Given the description of an element on the screen output the (x, y) to click on. 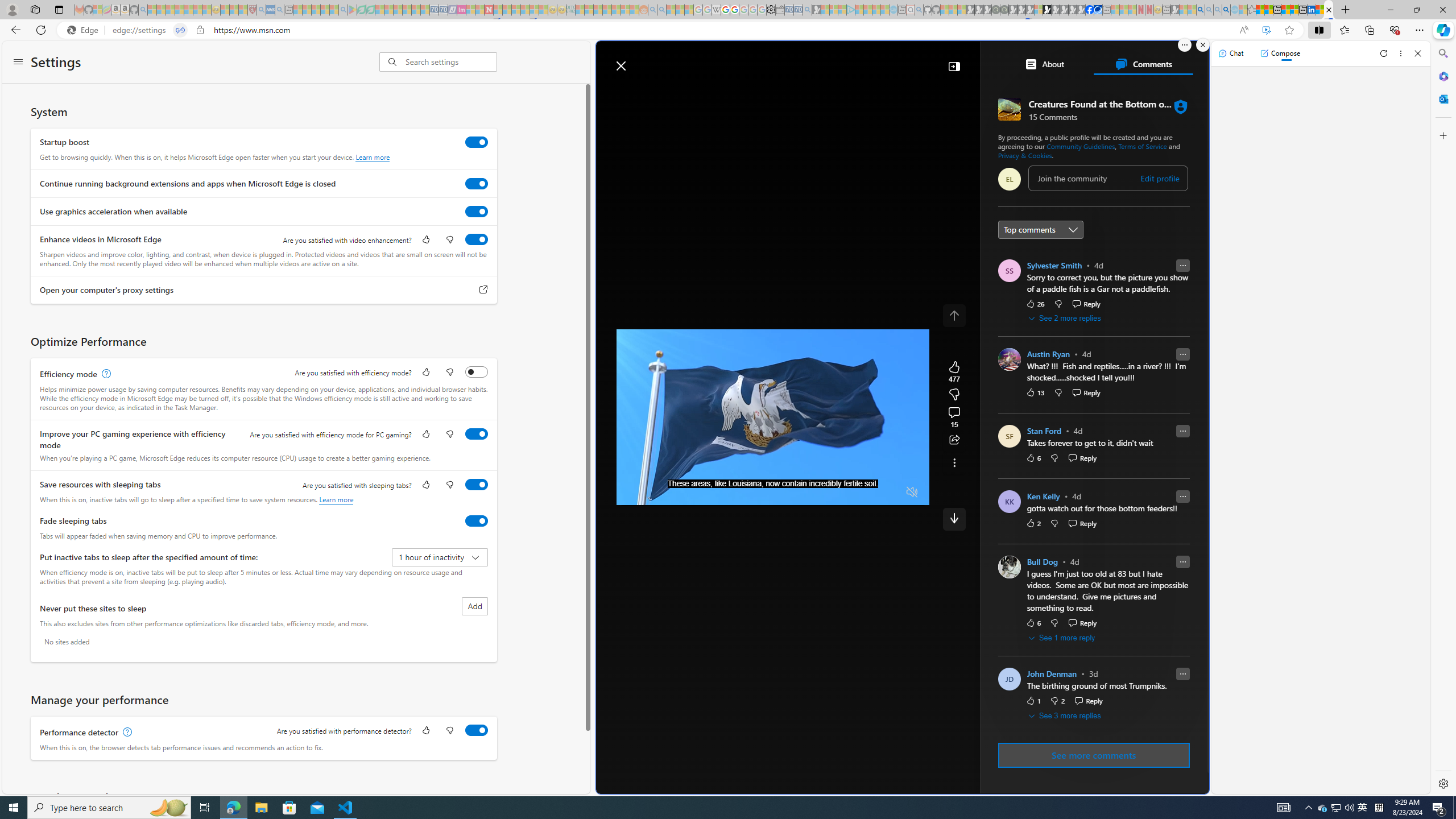
Pets - MSN - Sleeping (324, 9)
477 Like (954, 371)
Report comment (1181, 673)
Share this story (954, 440)
